Given the description of an element on the screen output the (x, y) to click on. 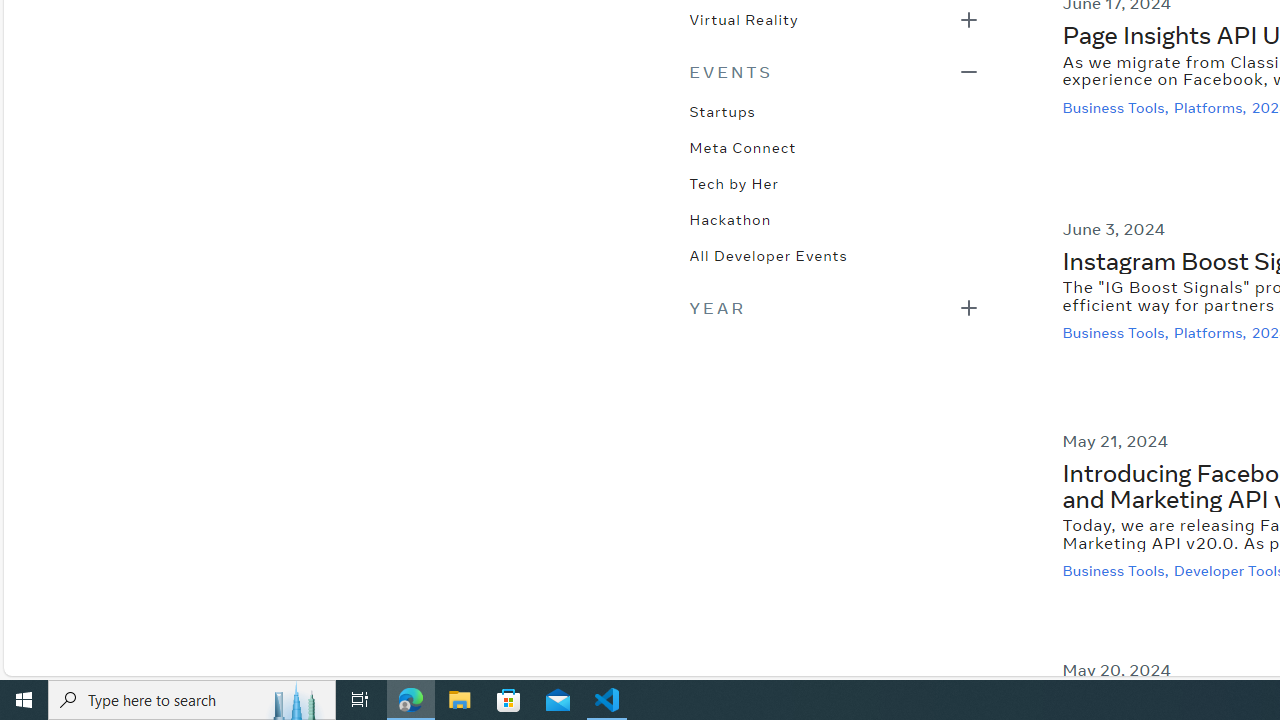
Startups (722, 109)
Tech by Her (733, 181)
Class: _9890 _98ey (834, 71)
Platforms, (1211, 333)
Business Tools, (1117, 571)
Class: _98ex _98ez (834, 25)
Hackathon (729, 217)
Meta Connect (742, 145)
All Developer Events (767, 253)
Class: _98ex (834, 261)
Class: _9890 _98ez (834, 307)
Virtual Reality (743, 17)
